Given the description of an element on the screen output the (x, y) to click on. 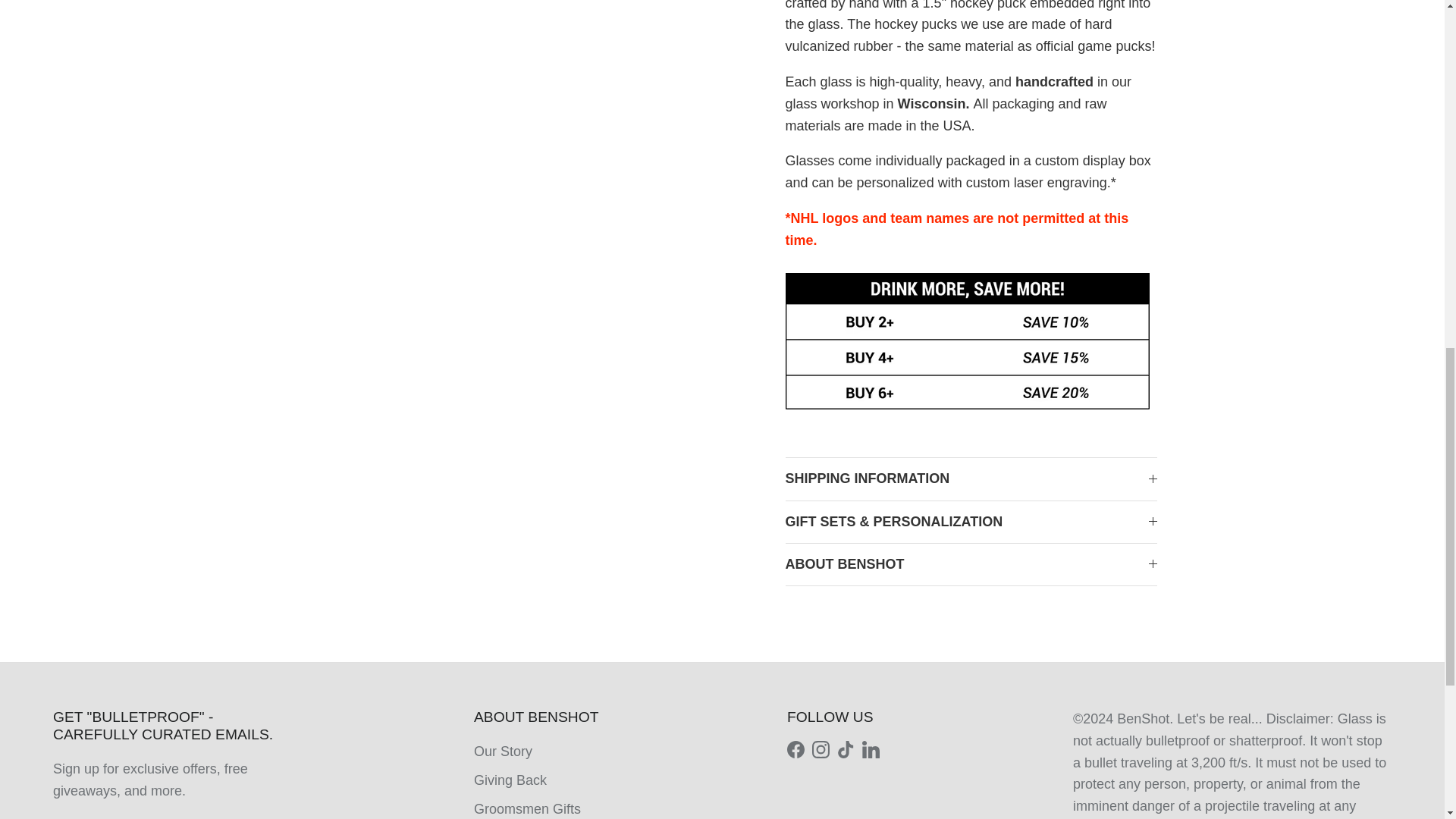
BenShot on Instagram (820, 749)
BenShot on TikTok (845, 749)
BenShot on Facebook (796, 749)
BenShot on LinkedIn (870, 749)
